Given the description of an element on the screen output the (x, y) to click on. 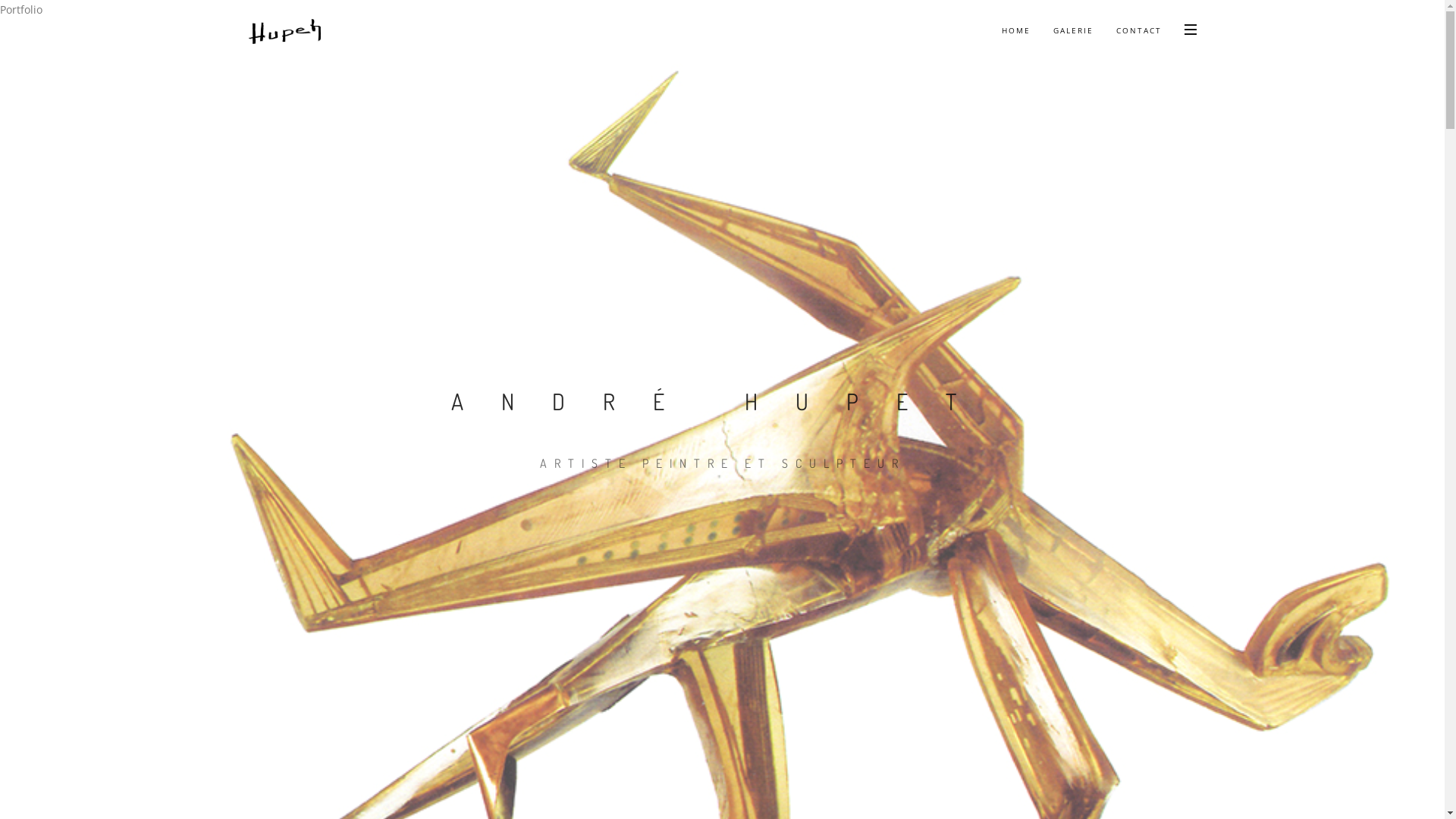
HOME Element type: text (1015, 30)
GALERIE Element type: text (1072, 30)
CONTACT Element type: text (1138, 30)
Menu Element type: hover (1189, 28)
